Given the description of an element on the screen output the (x, y) to click on. 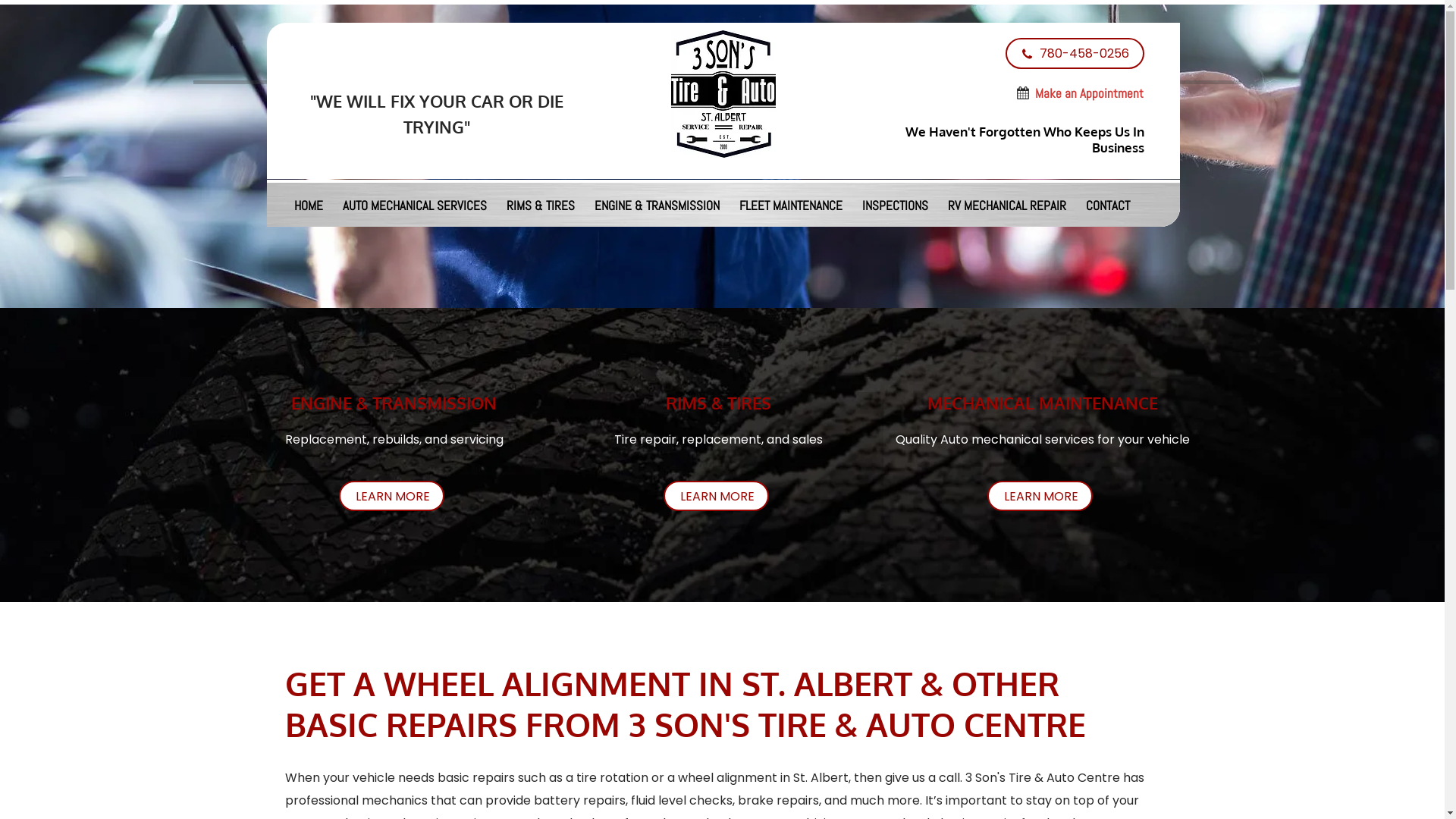
CONTACT Element type: text (1107, 205)
LEARN MORE Element type: text (1039, 495)
Make an Appointment Element type: text (1088, 95)
INSPECTIONS Element type: text (895, 205)
LEARN MORE Element type: text (390, 495)
780-458-0256 Element type: text (1074, 53)
HOME Element type: text (308, 205)
ENGINE & TRANSMISSION Element type: text (656, 205)
RV MECHANICAL REPAIR Element type: text (1007, 205)
LEARN MORE Element type: text (715, 495)
RIMS & TIRES Element type: text (540, 205)
FLEET MAINTENANCE Element type: text (790, 205)
